Given the description of an element on the screen output the (x, y) to click on. 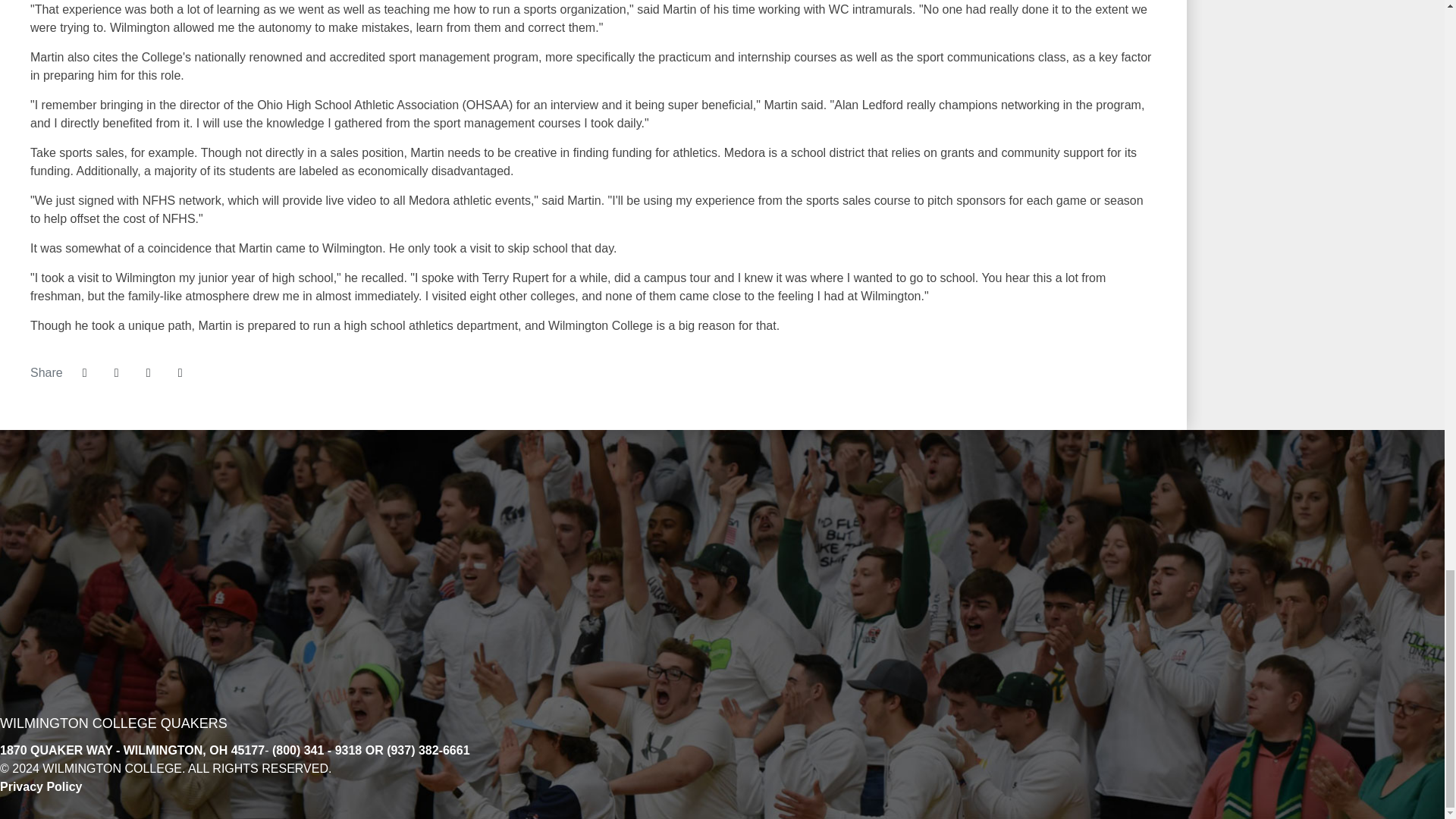
Print (180, 372)
